Given the description of an element on the screen output the (x, y) to click on. 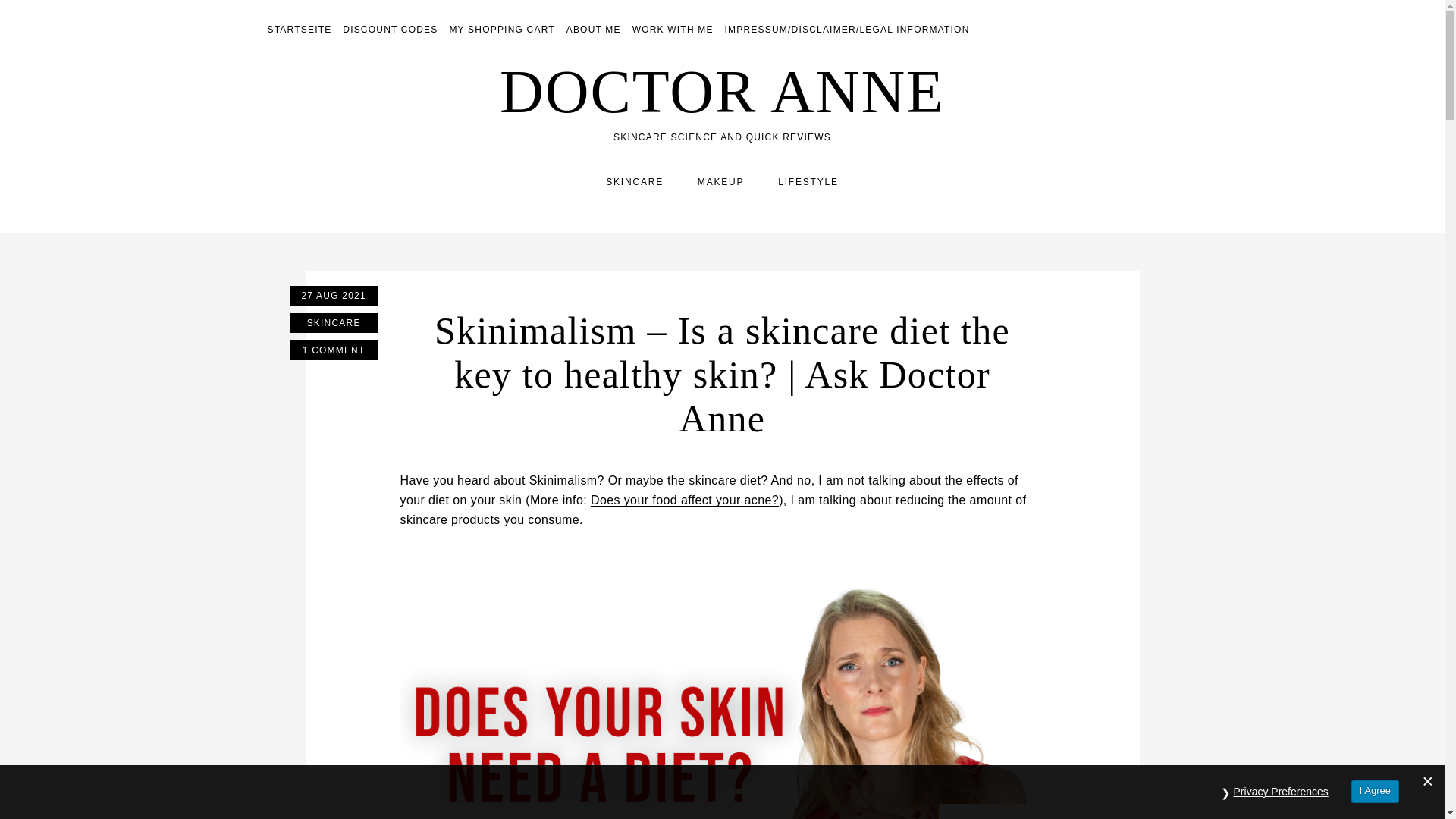
DISCOUNT CODES (390, 29)
MY SHOPPING CART (501, 29)
STARTSEITE (298, 29)
WORK WITH ME (672, 29)
DOCTOR ANNE (721, 91)
ABOUT ME (593, 29)
View all posts in Skincare (333, 322)
